Given the description of an element on the screen output the (x, y) to click on. 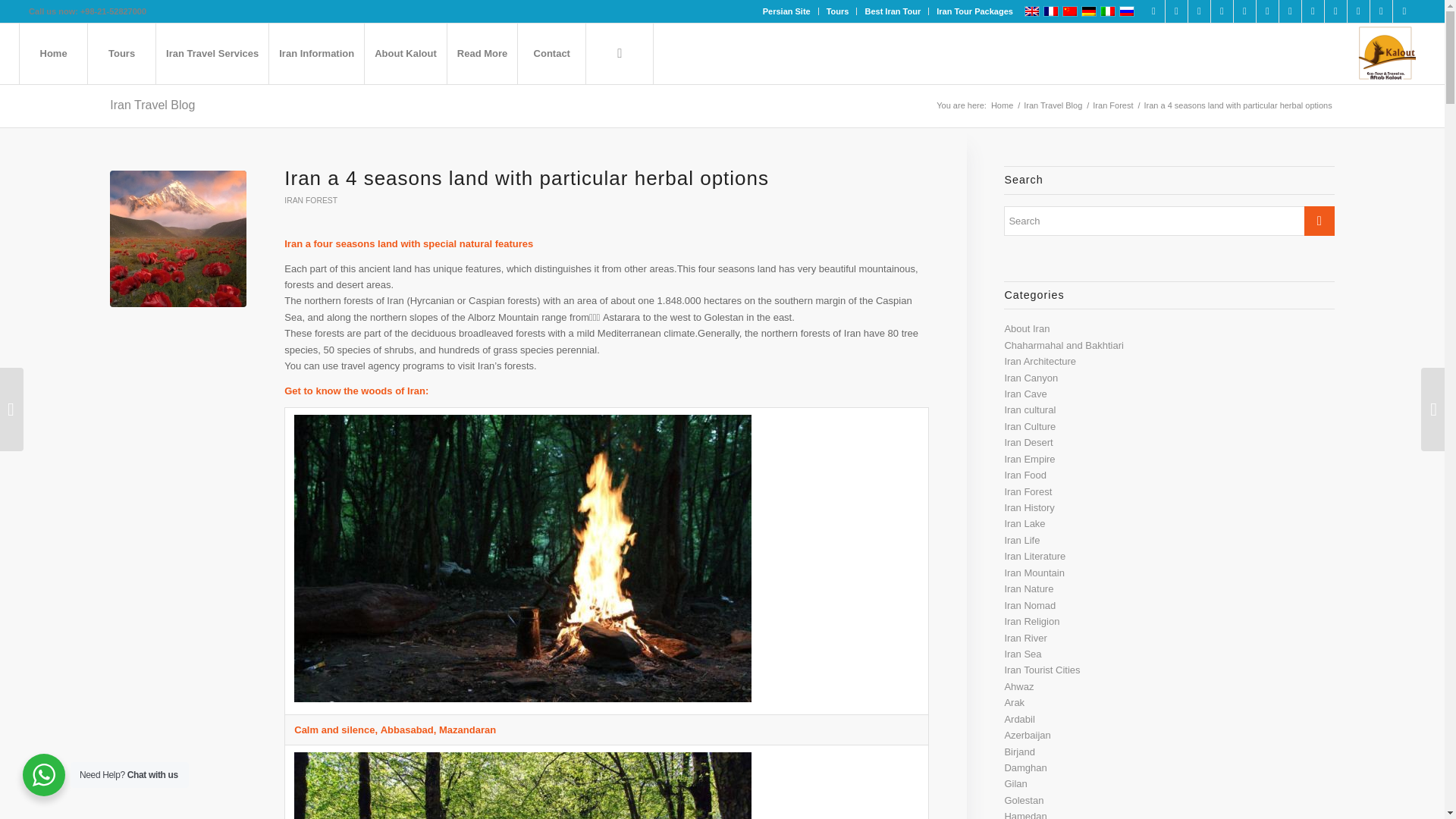
English (1032, 10)
Instagram (1222, 11)
LinkedIn (1177, 11)
Behance (1335, 11)
Tours (837, 11)
Twitter (1198, 11)
Vk (1380, 11)
Persian Site (786, 11)
Youtube (1267, 11)
Italiano (1107, 10)
Skype (1290, 11)
Mail (1404, 11)
Facebook (1153, 11)
500px (1312, 11)
Pinterest (1244, 11)
